Given the description of an element on the screen output the (x, y) to click on. 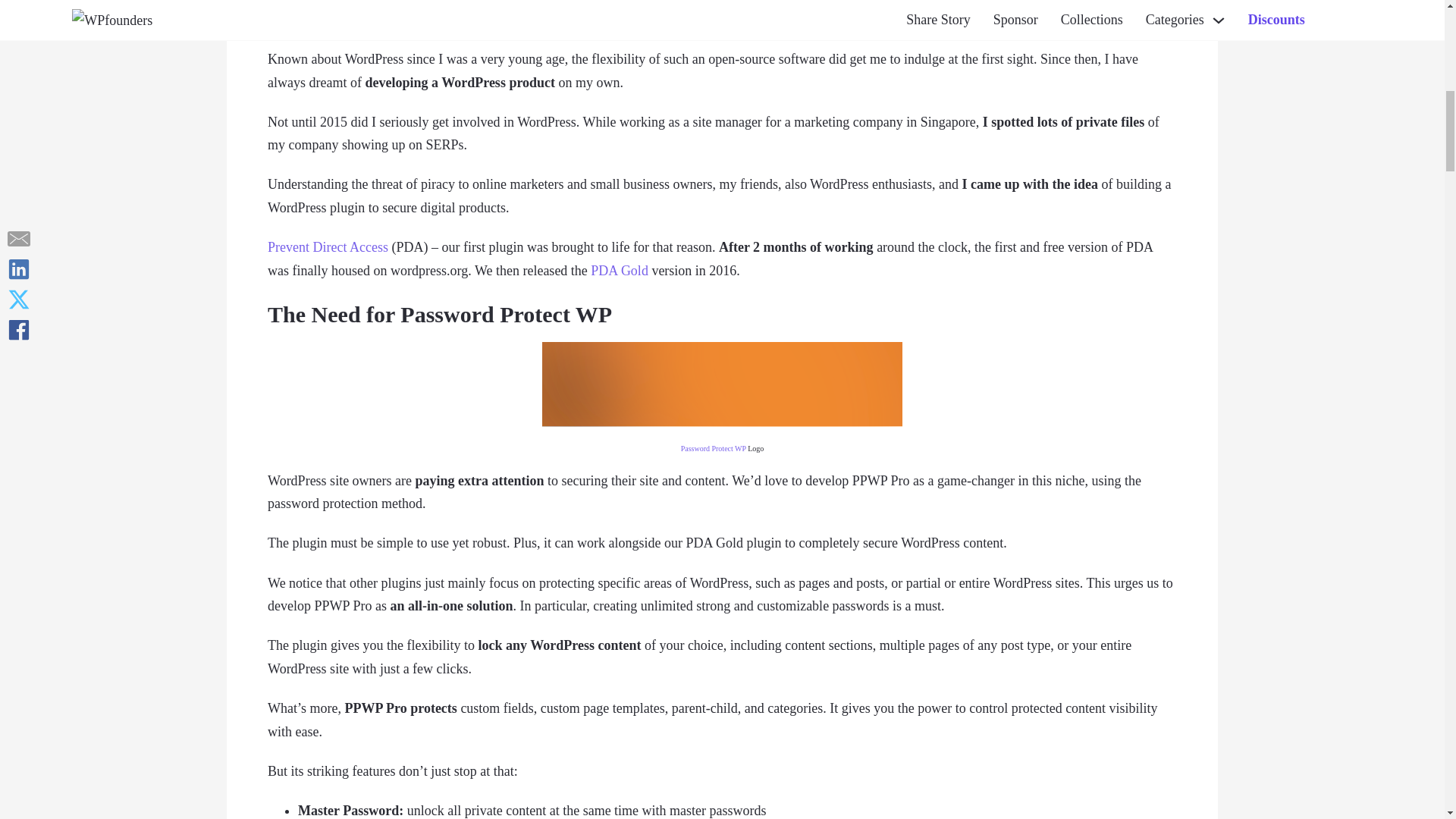
PDA Gold (619, 270)
Password Protect WP (713, 448)
Prevent Direct Access (327, 246)
